Given the description of an element on the screen output the (x, y) to click on. 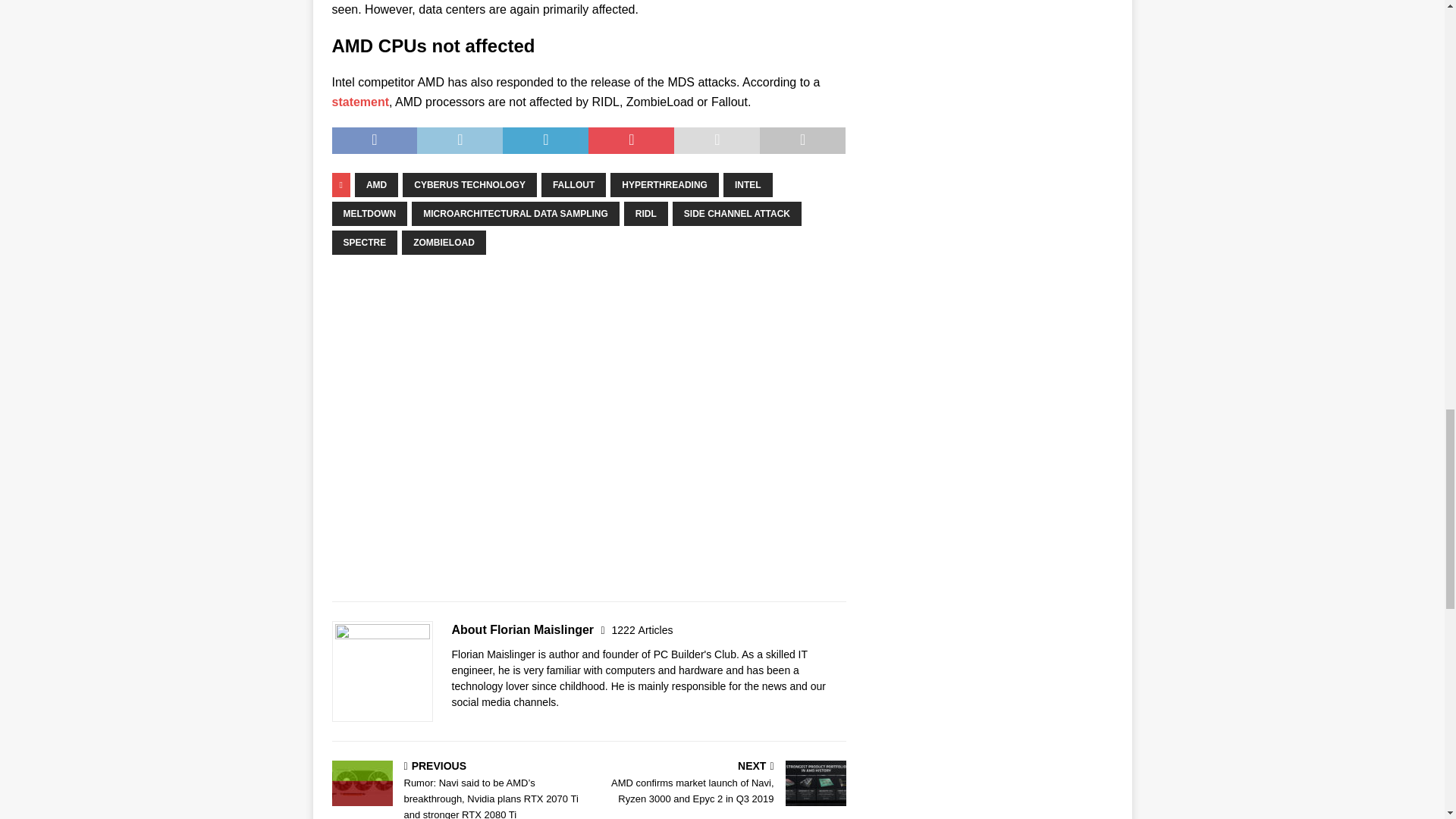
FALLOUT (573, 184)
CYBERUS TECHNOLOGY (470, 184)
statement (360, 101)
INTEL (748, 184)
AMD (376, 184)
More articles written by Florian Maislinger' (641, 630)
HYPERTHREADING (664, 184)
